Given the description of an element on the screen output the (x, y) to click on. 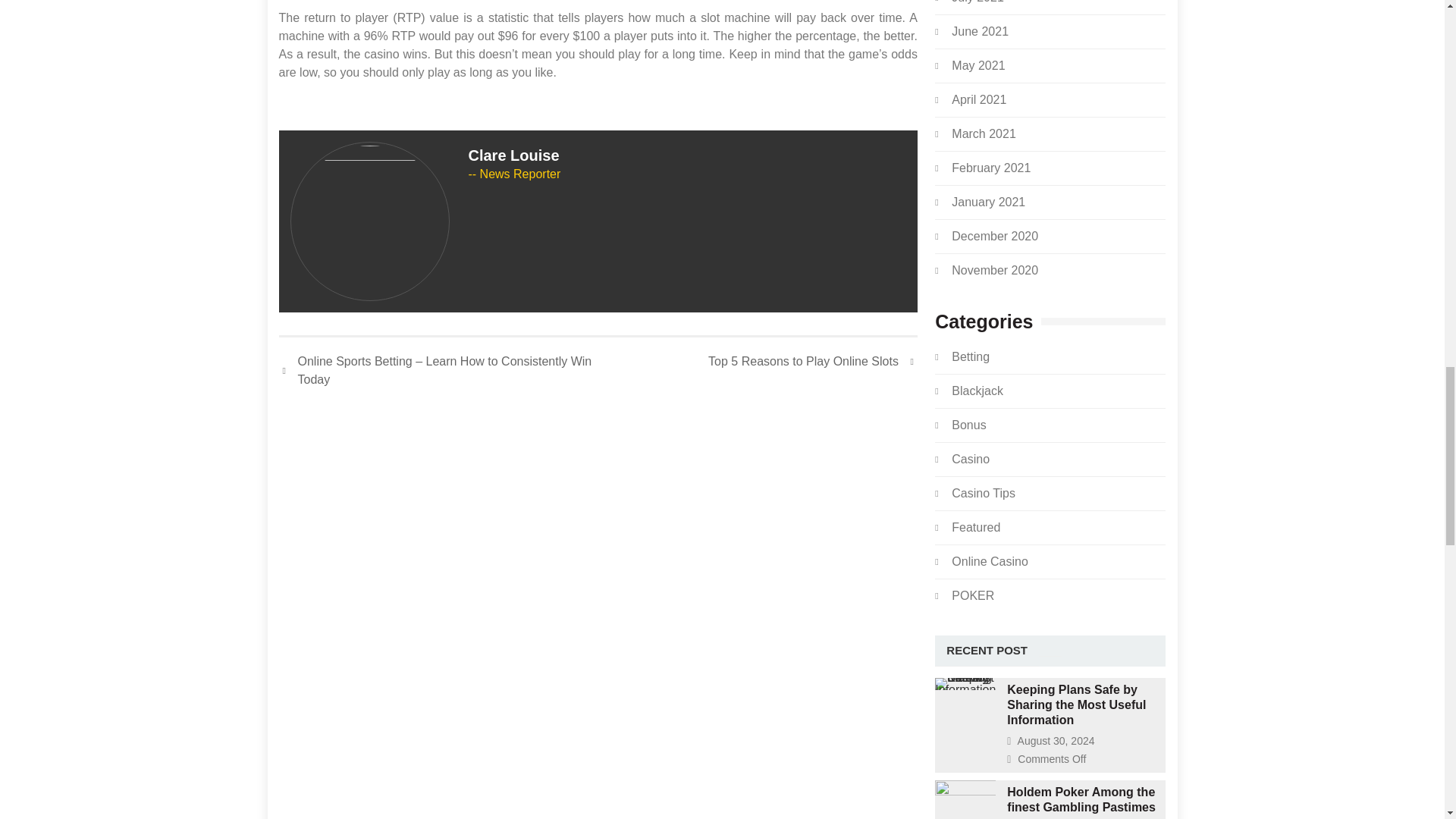
Top 5 Reasons to Play Online Slots (812, 361)
Clare Louise (513, 155)
Posts by Clare Louise (513, 155)
